Given the description of an element on the screen output the (x, y) to click on. 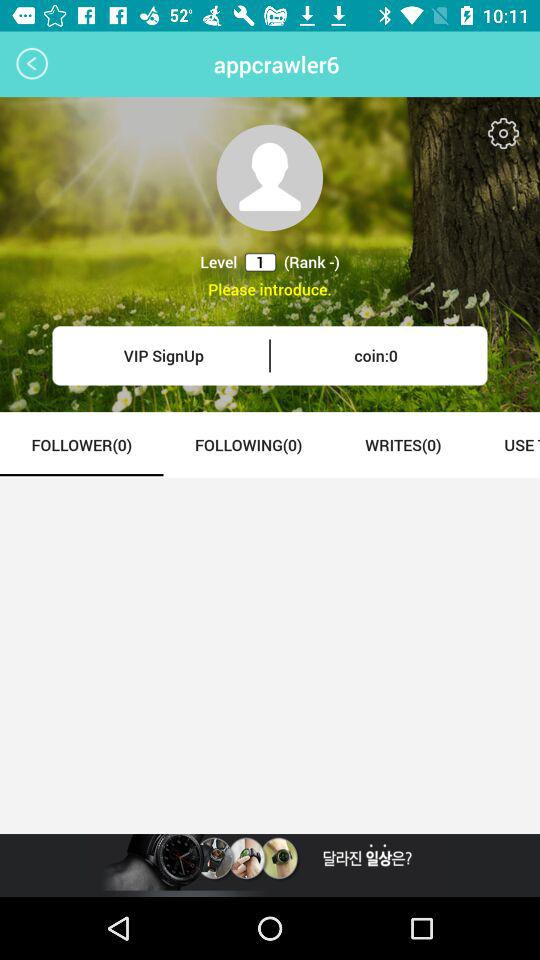
press following(0) (248, 444)
